Given the description of an element on the screen output the (x, y) to click on. 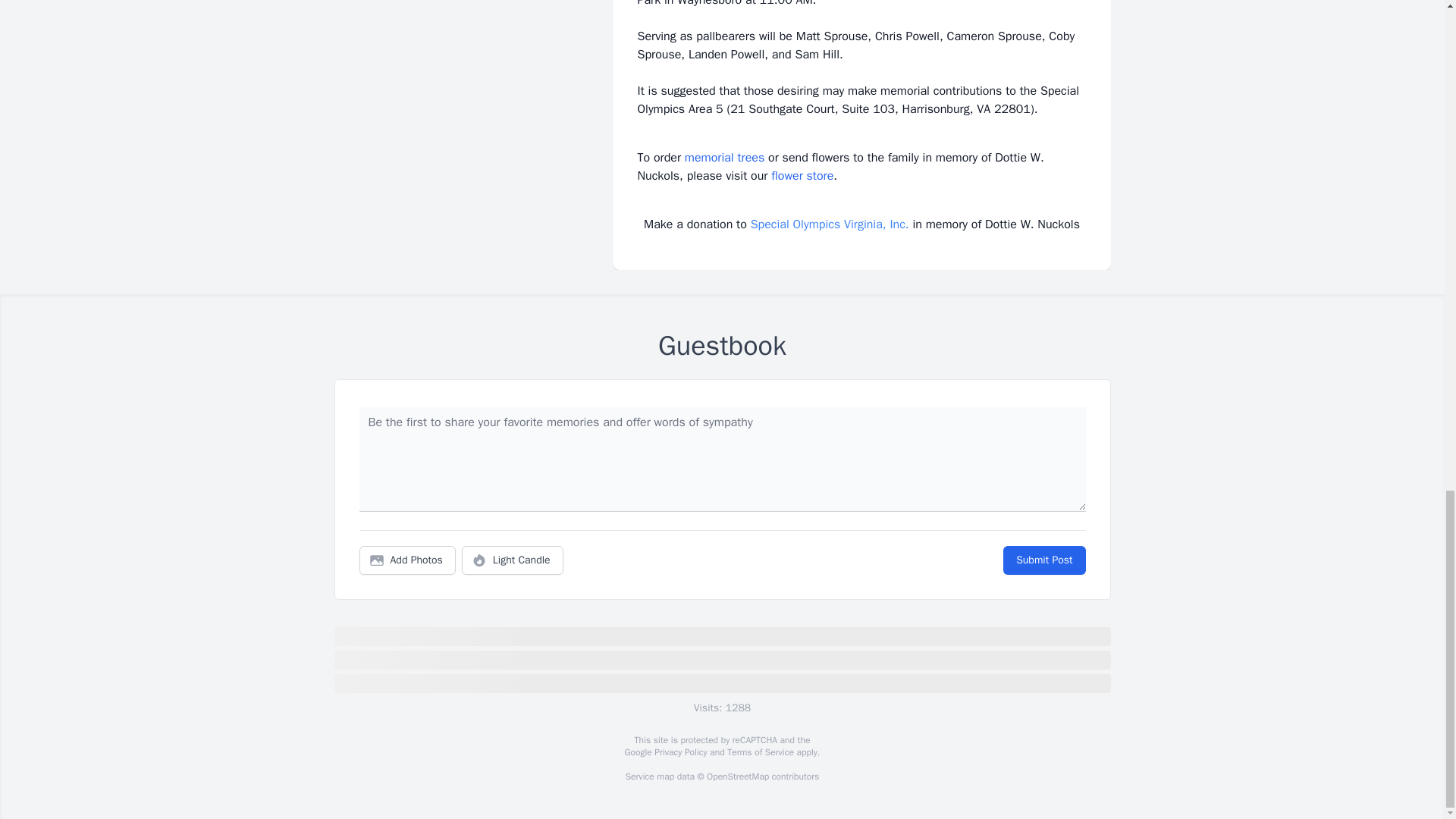
memorial trees (724, 157)
Privacy Policy (679, 752)
Submit Post (1043, 560)
Light Candle (512, 560)
flower store (801, 175)
Add Photos (407, 560)
OpenStreetMap (737, 776)
Terms of Service (759, 752)
